Given the description of an element on the screen output the (x, y) to click on. 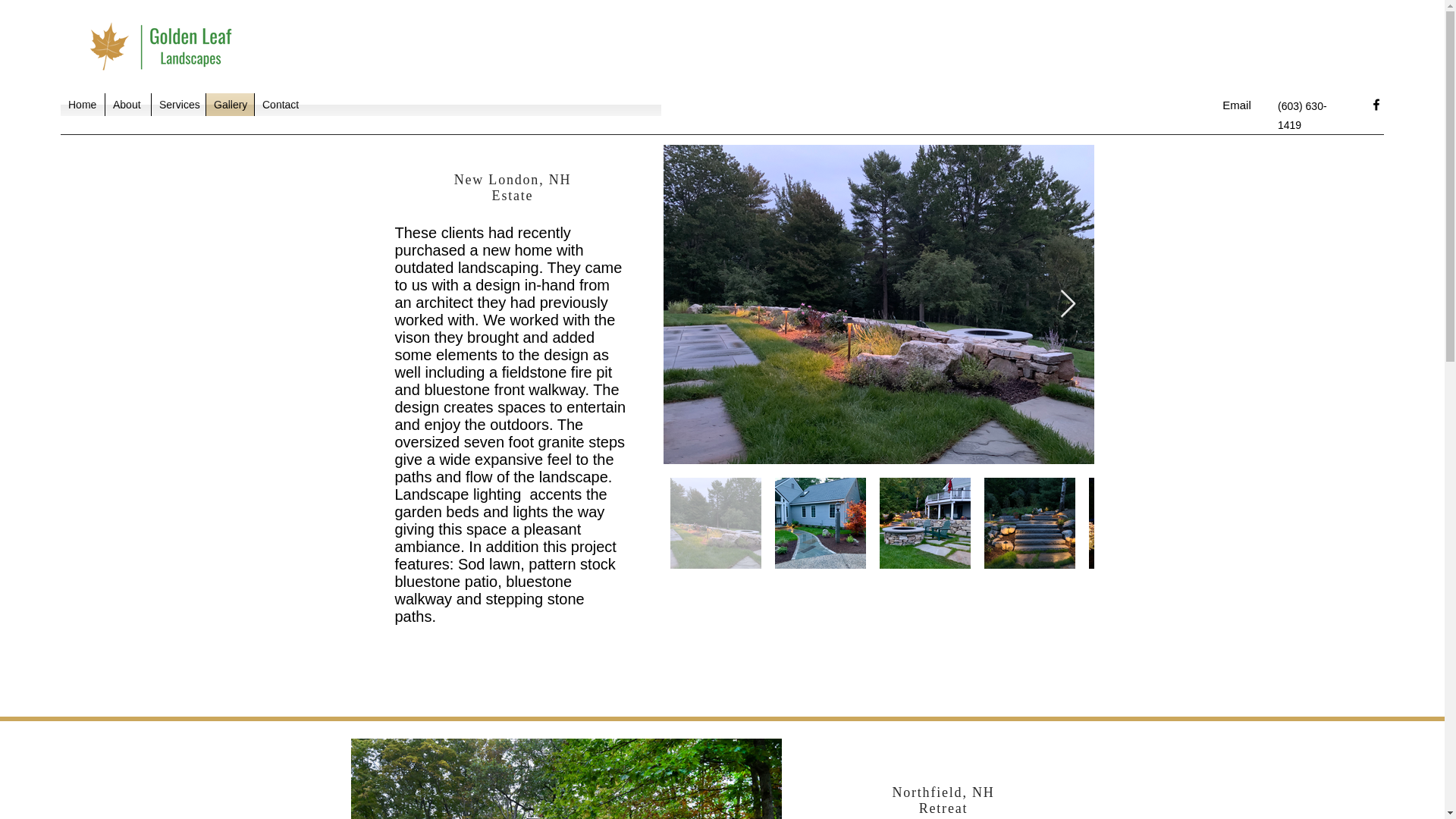
About (127, 104)
Email (1236, 105)
Services (178, 104)
Home (82, 104)
Gallery (229, 104)
Contact (280, 104)
